Given the description of an element on the screen output the (x, y) to click on. 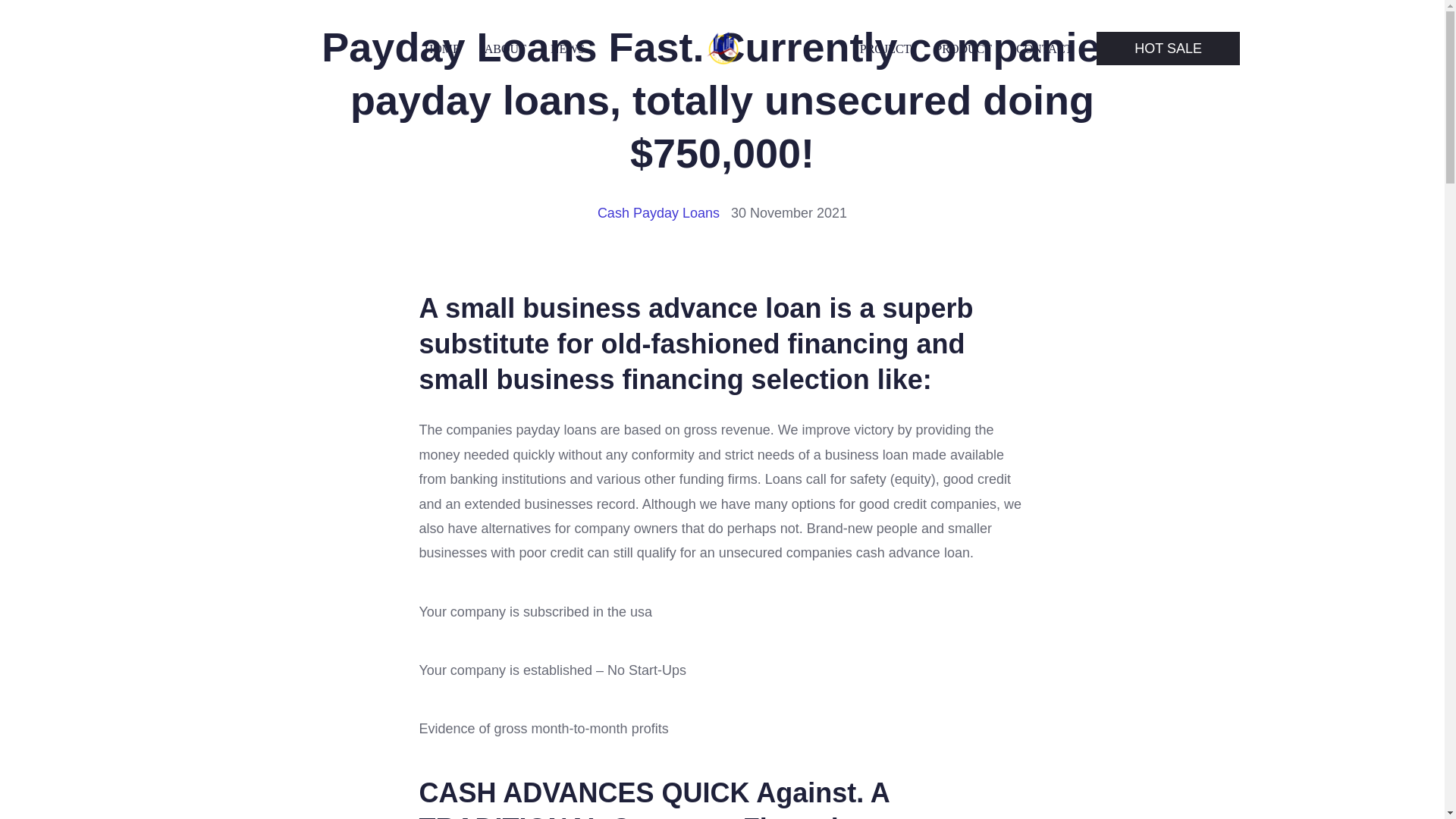
NEWS (567, 49)
HOME (442, 49)
Cari (50, 16)
PROJECT (885, 49)
ABOUT (504, 49)
